Given the description of an element on the screen output the (x, y) to click on. 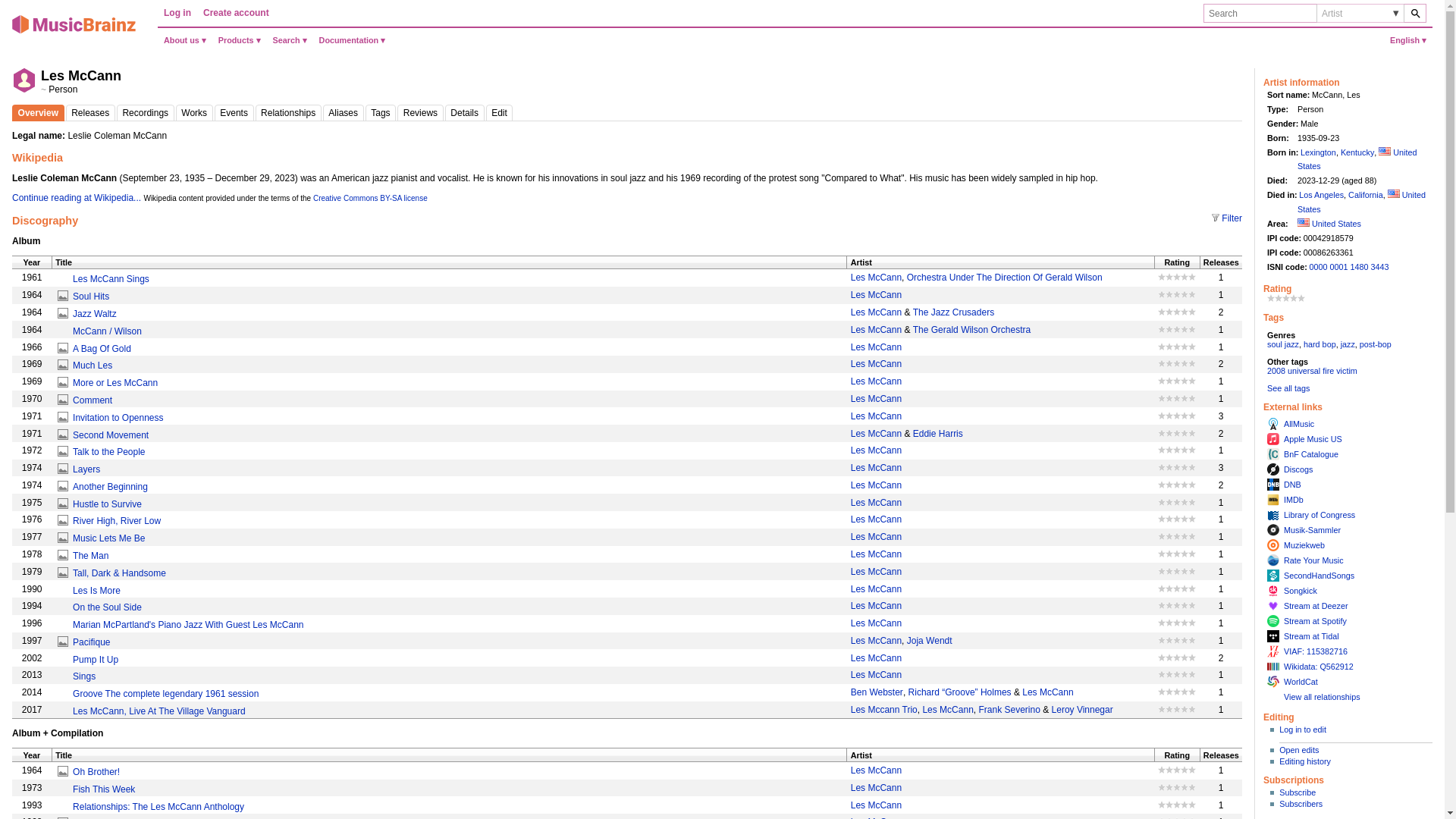
McCann, Les (420, 112)
Create account (235, 13)
McCann, Les (145, 112)
McCann, Les (380, 112)
McCann, Les (90, 112)
McCann, Les (464, 112)
McCann, Les (194, 112)
McCann, Les (288, 112)
McCann, Les (499, 112)
McCann, Les (343, 112)
